Given the description of an element on the screen output the (x, y) to click on. 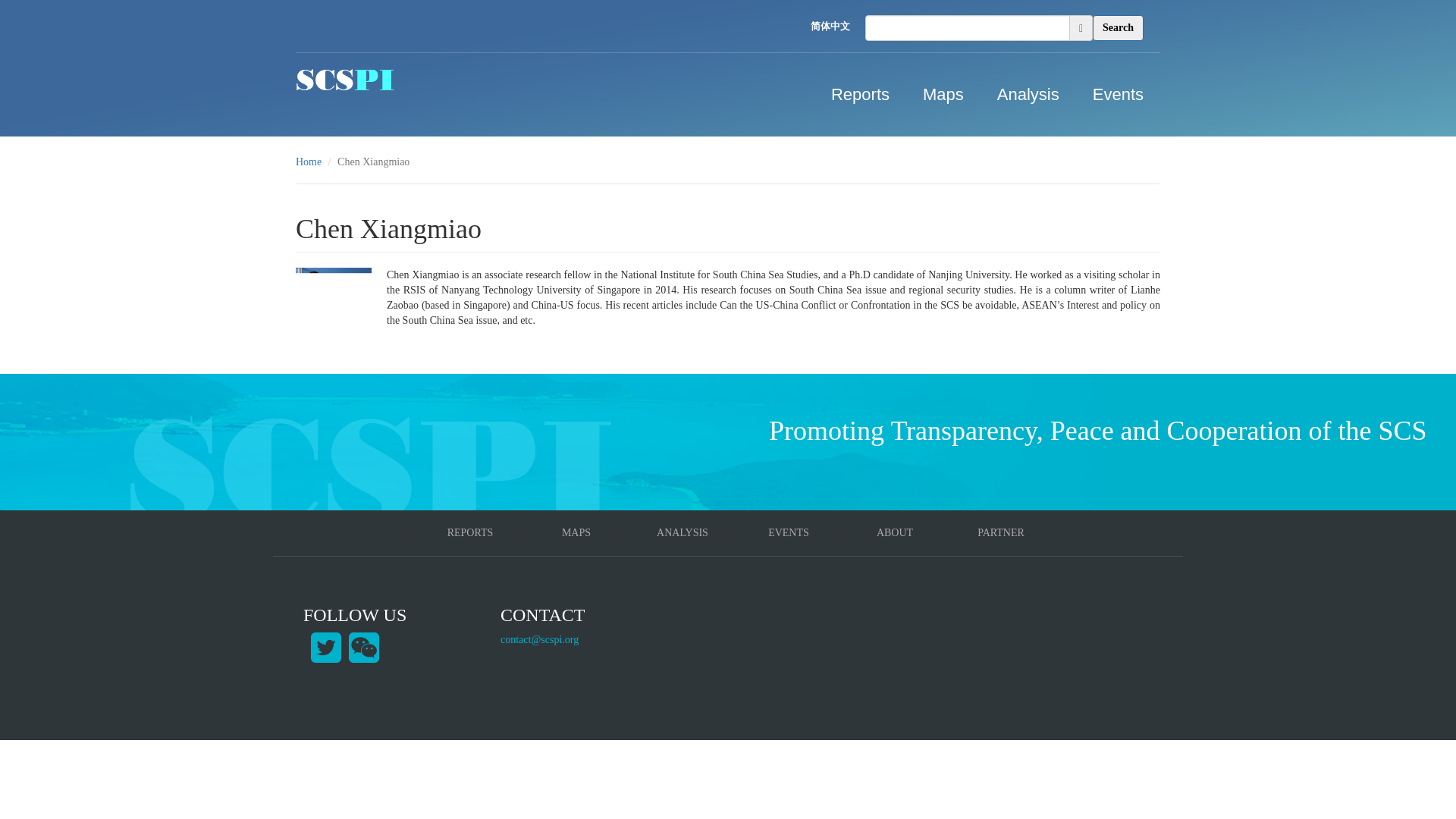
MAPS (576, 532)
PARTNER (1000, 532)
ABOUT (894, 532)
Maps (942, 94)
ANALYSIS (681, 532)
SCS Probing Initiative Twitter (325, 645)
REPORTS (469, 532)
Home (308, 161)
Reports (859, 94)
